Given the description of an element on the screen output the (x, y) to click on. 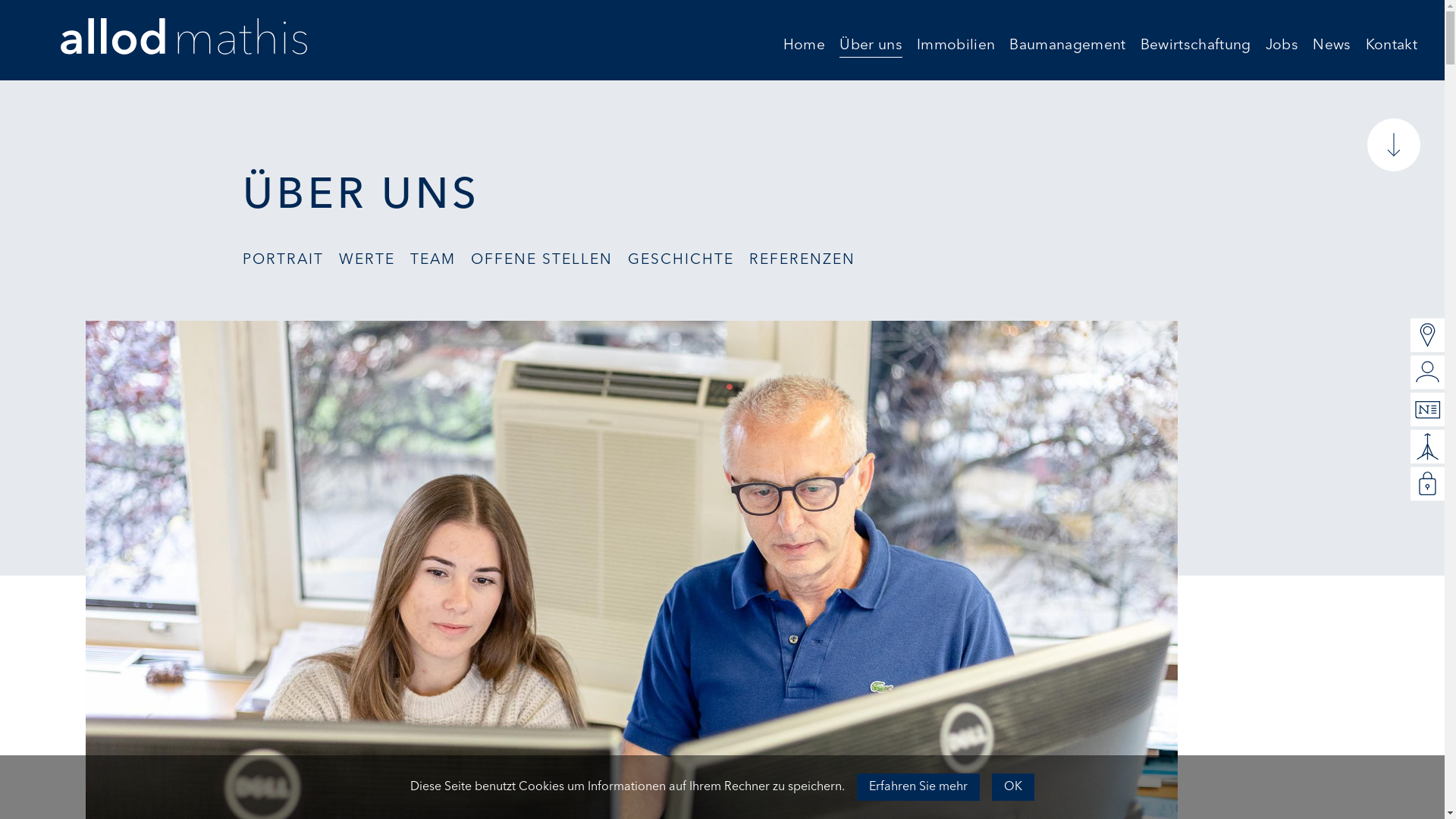
Baumanagement Element type: text (1067, 48)
News Element type: text (1331, 48)
Jobs Element type: text (1281, 48)
TEAM Element type: text (432, 263)
WERTE Element type: text (366, 263)
Kontakt Element type: text (1391, 48)
PORTRAIT Element type: text (282, 263)
GESCHICHTE Element type: text (680, 263)
Erfahren Sie mehr Element type: text (917, 786)
REFERENZEN Element type: text (802, 263)
Home Element type: text (804, 48)
Immobilien Element type: text (955, 48)
Bewirtschaftung Element type: text (1195, 48)
OK Element type: text (1012, 786)
OFFENE STELLEN Element type: text (541, 263)
